Given the description of an element on the screen output the (x, y) to click on. 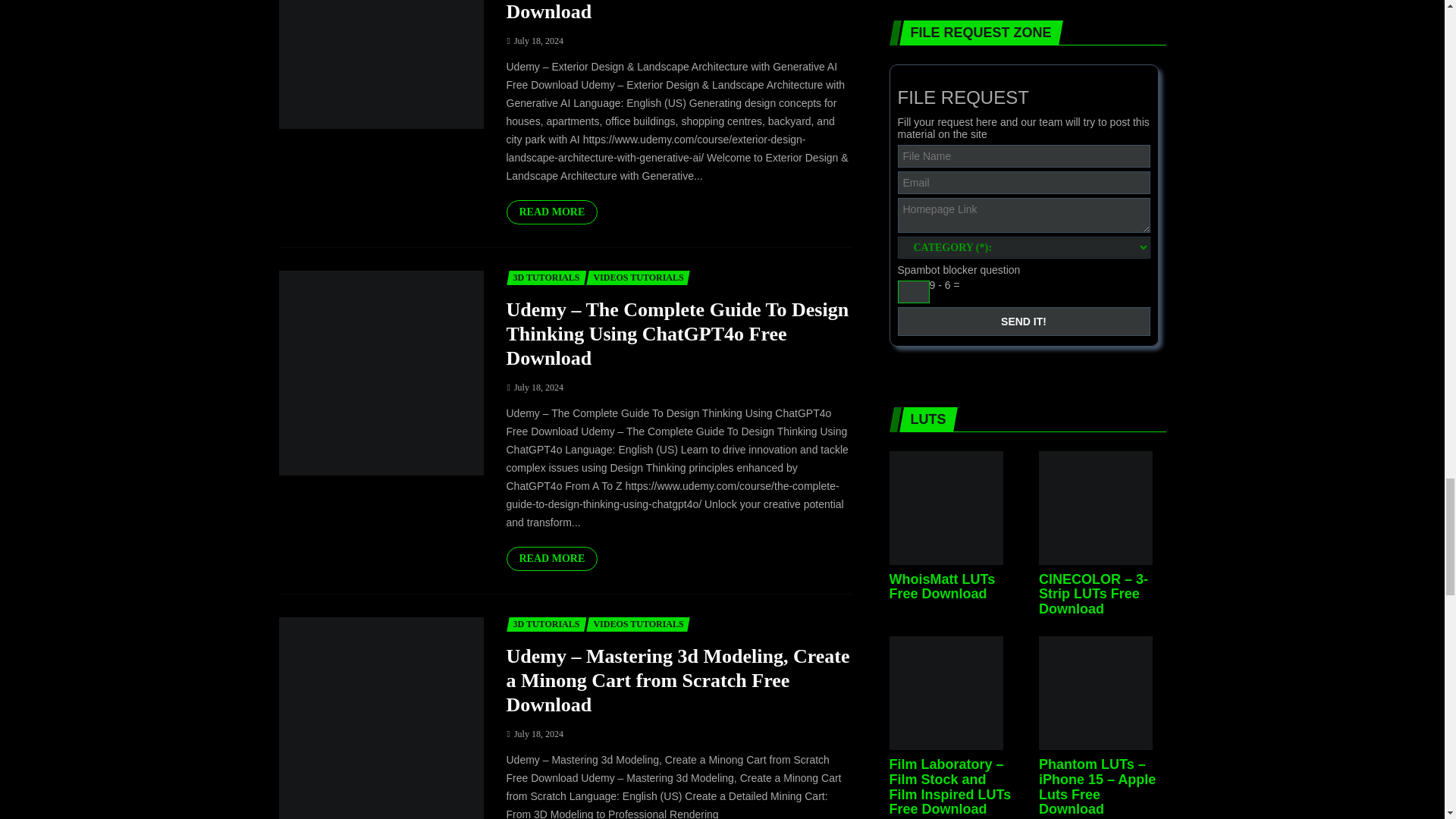
Send it! (1024, 321)
